Given the description of an element on the screen output the (x, y) to click on. 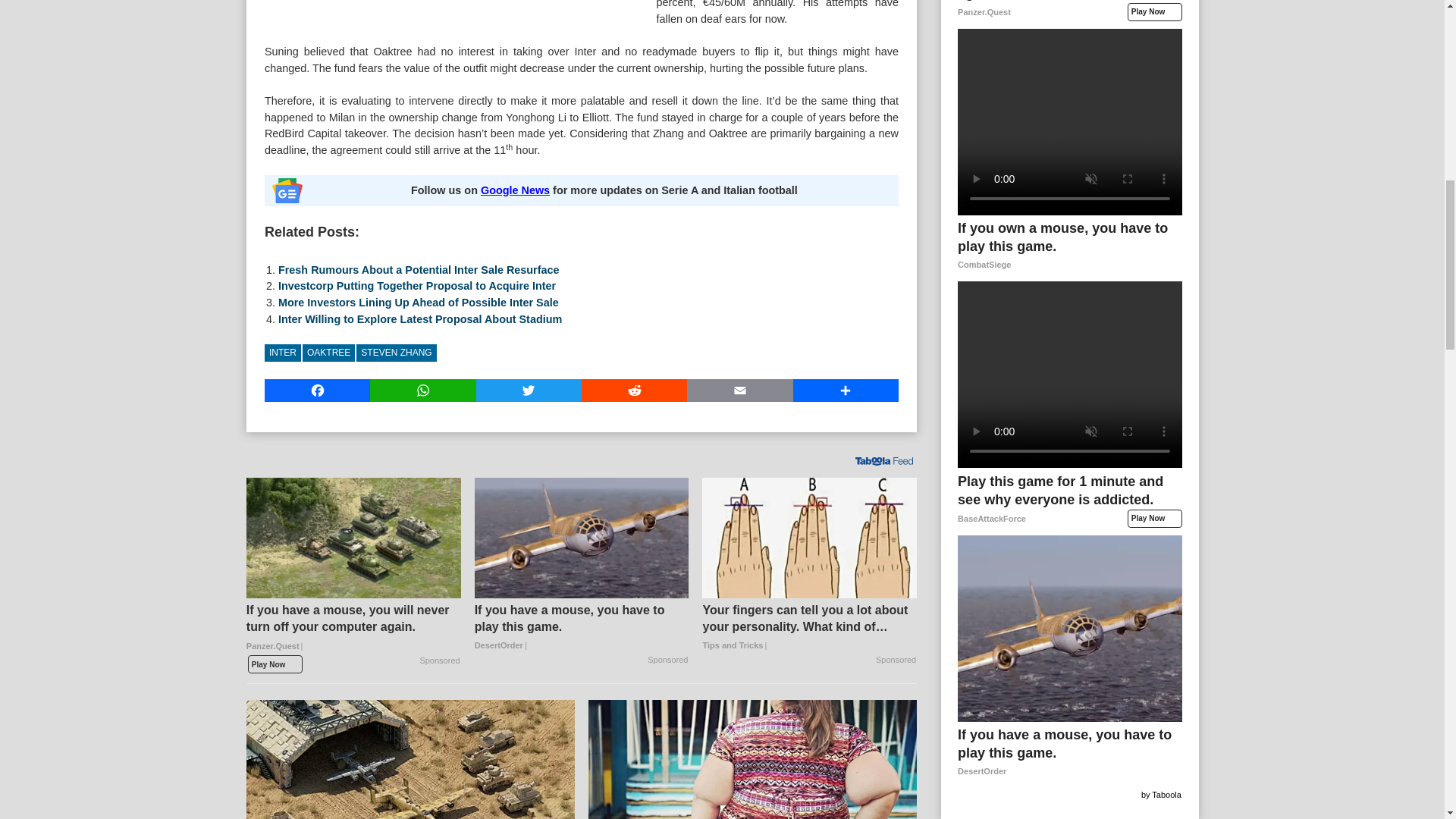
Investcorp Putting Together Proposal to Acquire Inter (417, 285)
Twitter (528, 390)
Facebook (316, 390)
Reddit (633, 390)
More Investors Lining Up Ahead of Possible Inter Sale (418, 302)
Inter Willing to Explore Latest Proposal About Stadium (420, 318)
WhatsApp (422, 390)
Email (739, 390)
Fresh Rumours About a Potential Inter Sale Resurface (418, 269)
